Given the description of an element on the screen output the (x, y) to click on. 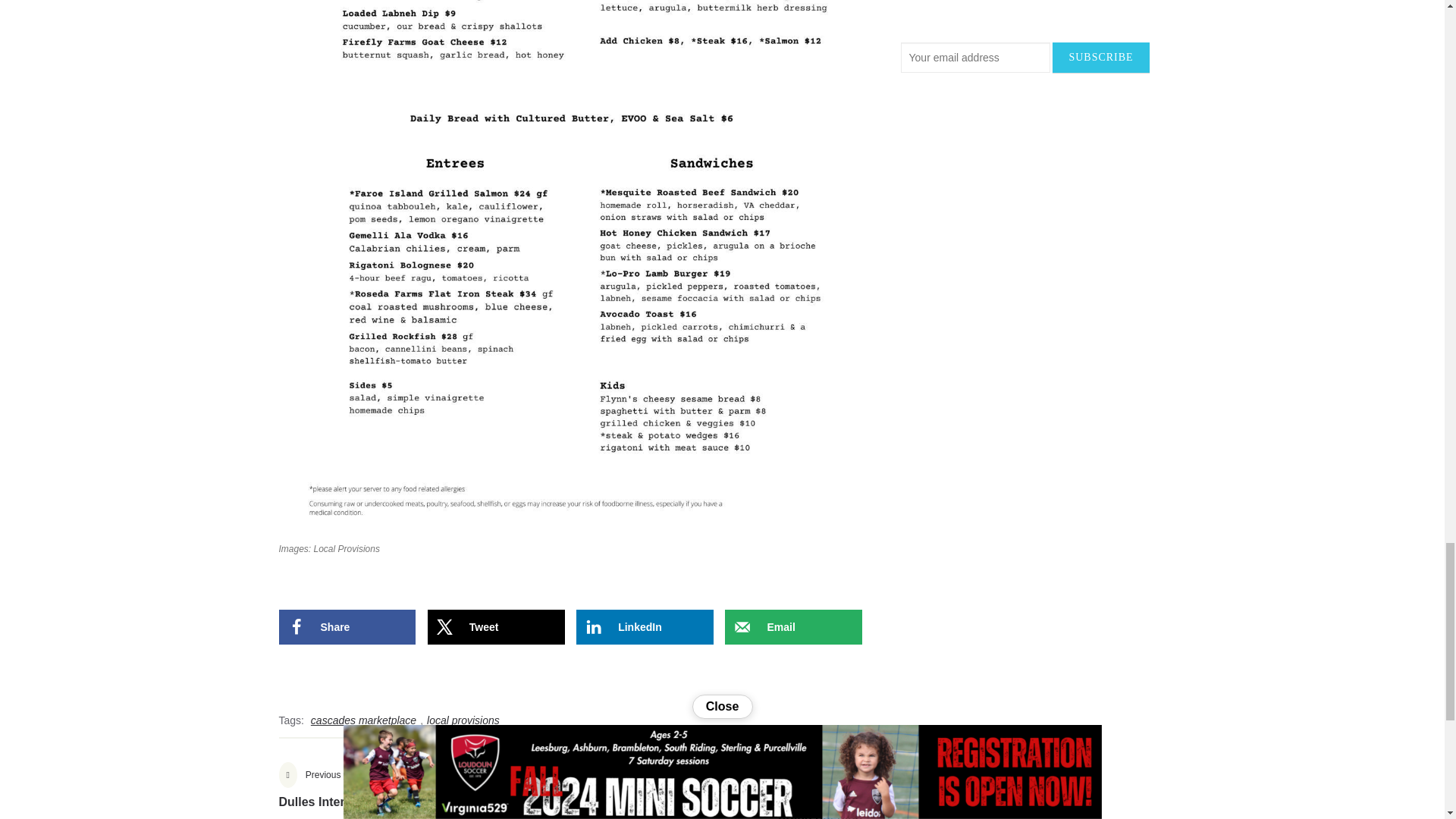
next post (715, 794)
Share on X (496, 626)
Share on LinkedIn (644, 626)
prev post (424, 794)
Send over email (793, 626)
LinkedIn (644, 626)
Tweet (496, 626)
Share on Facebook (347, 626)
Email (793, 626)
Share (347, 626)
Subscribe (1100, 57)
